Given the description of an element on the screen output the (x, y) to click on. 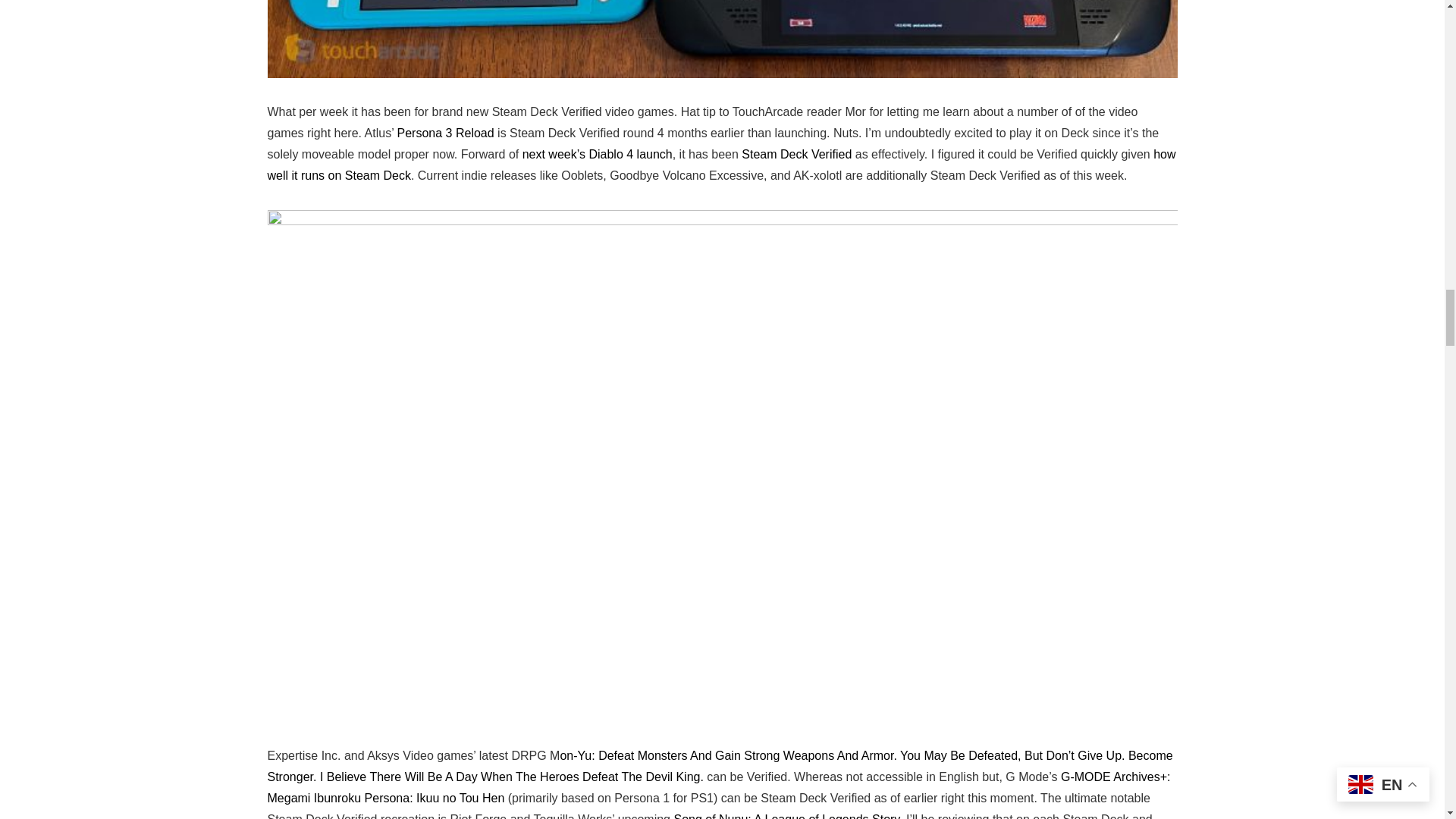
Steam Deck Verified (796, 154)
Persona 3 Reload (446, 132)
Song of Nunu: A League of Legends Story (785, 816)
how well it runs on Steam Deck (720, 164)
